Given the description of an element on the screen output the (x, y) to click on. 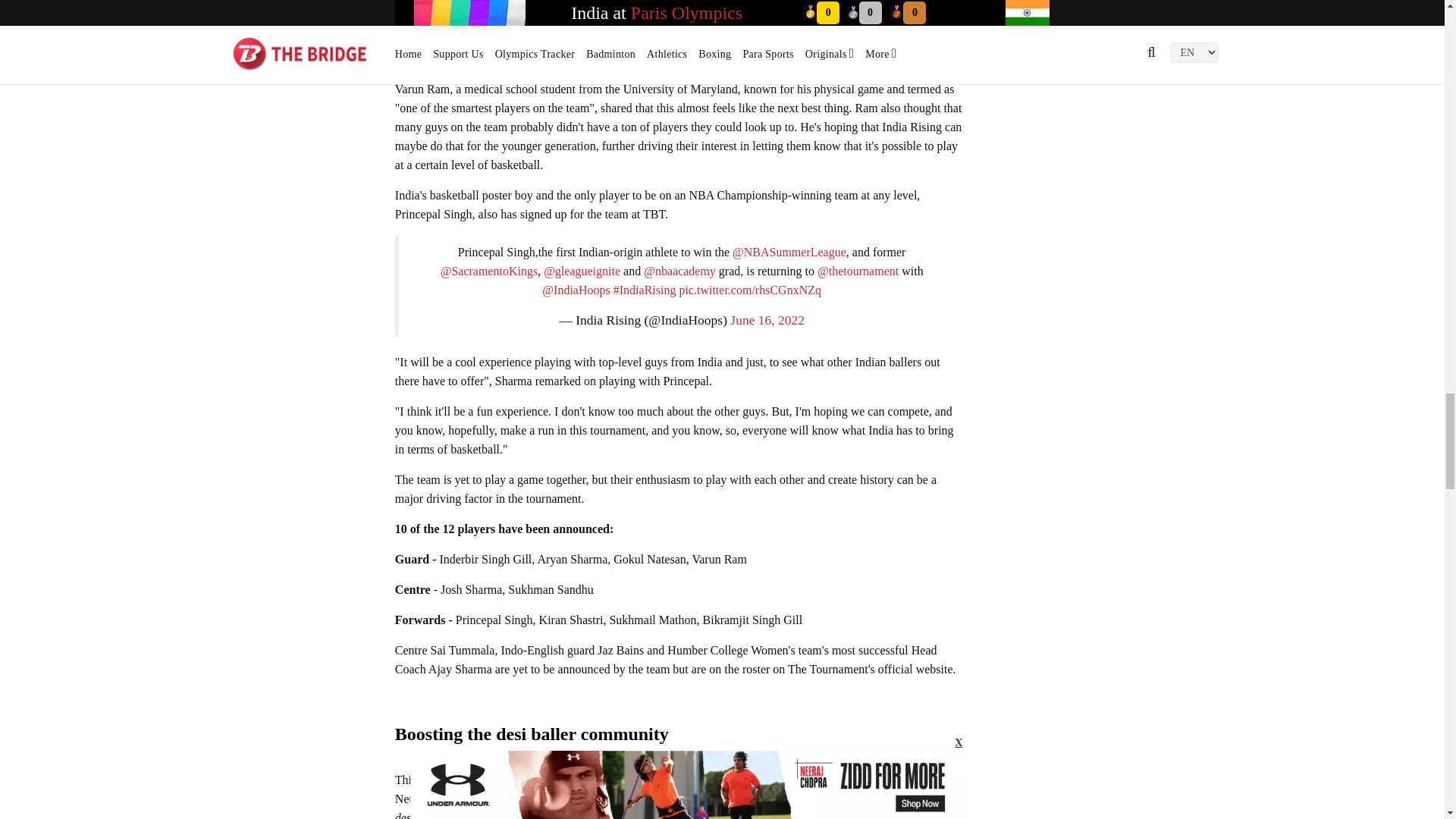
Princepal Singh (679, 33)
